Given the description of an element on the screen output the (x, y) to click on. 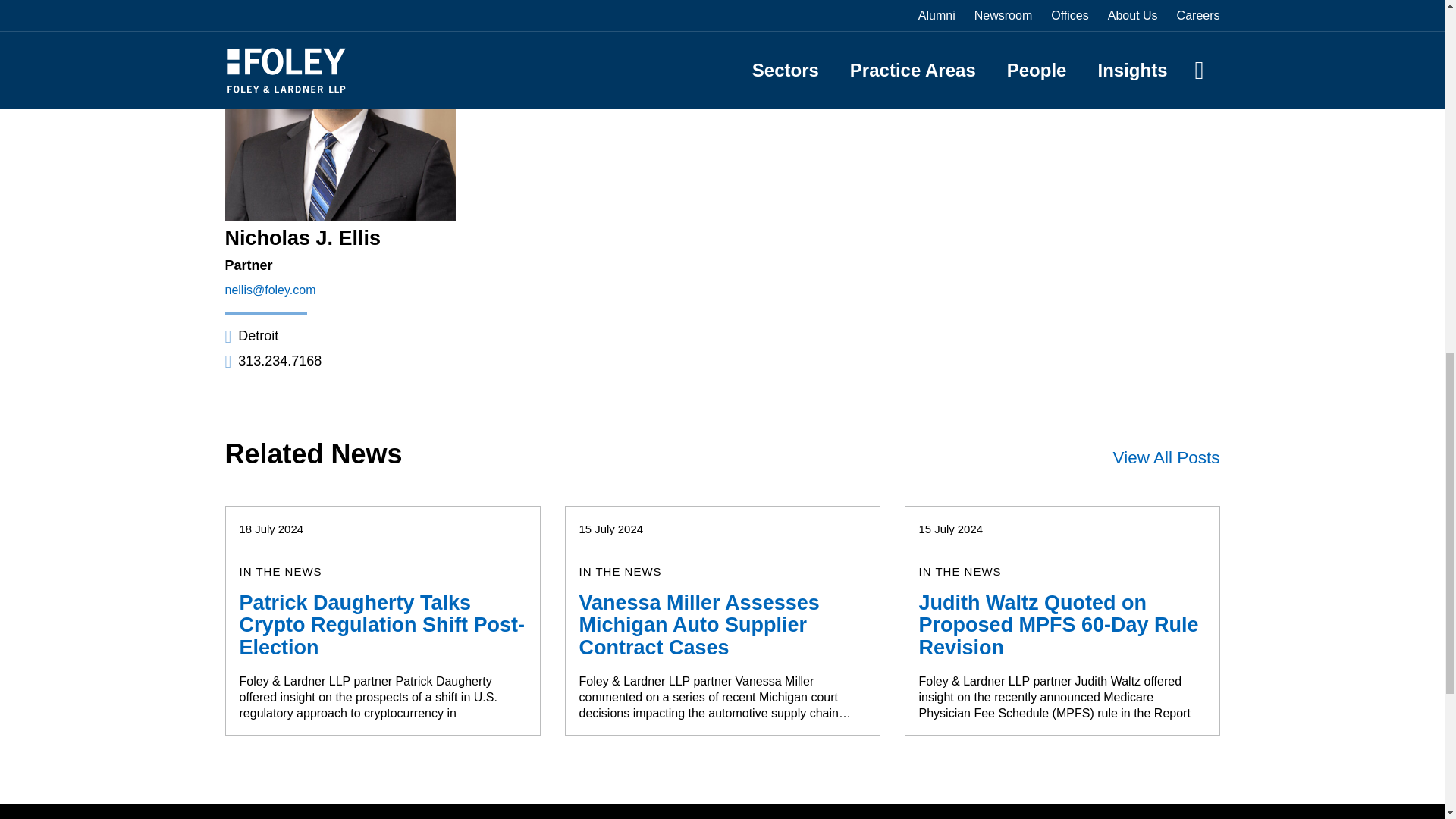
Nicholas J. Ellis (302, 237)
313.234.7168 (272, 360)
